Given the description of an element on the screen output the (x, y) to click on. 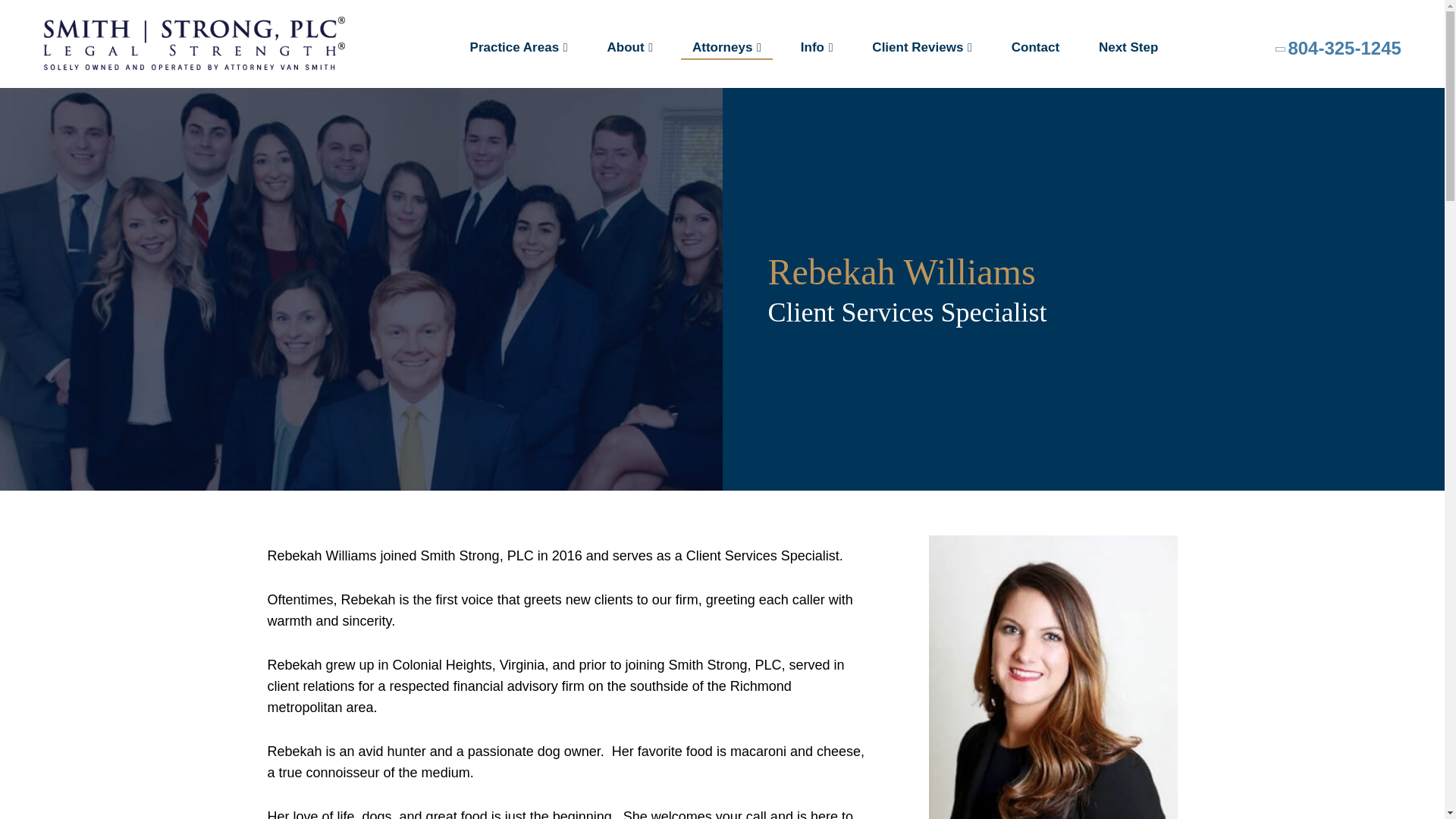
Practice Areas (518, 50)
